Given the description of an element on the screen output the (x, y) to click on. 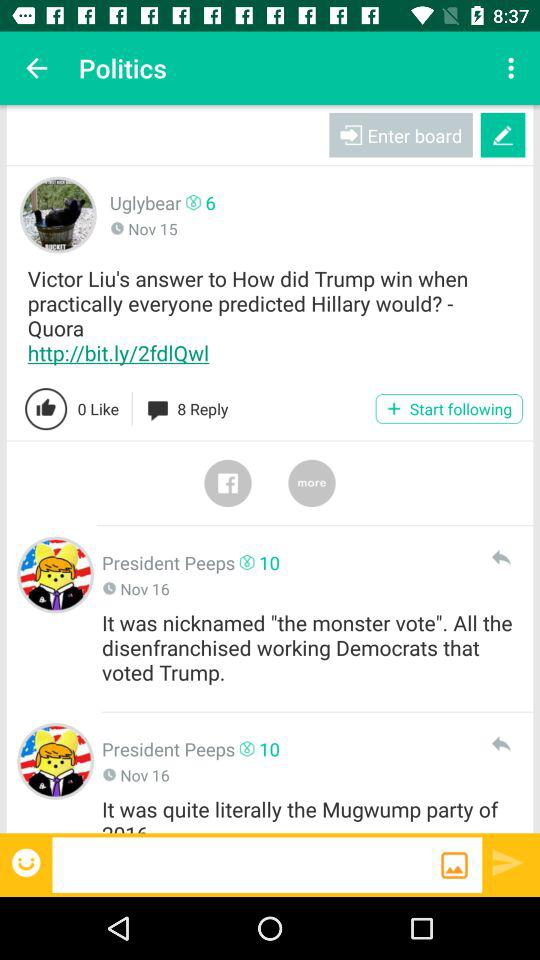
type reply (246, 864)
